Given the description of an element on the screen output the (x, y) to click on. 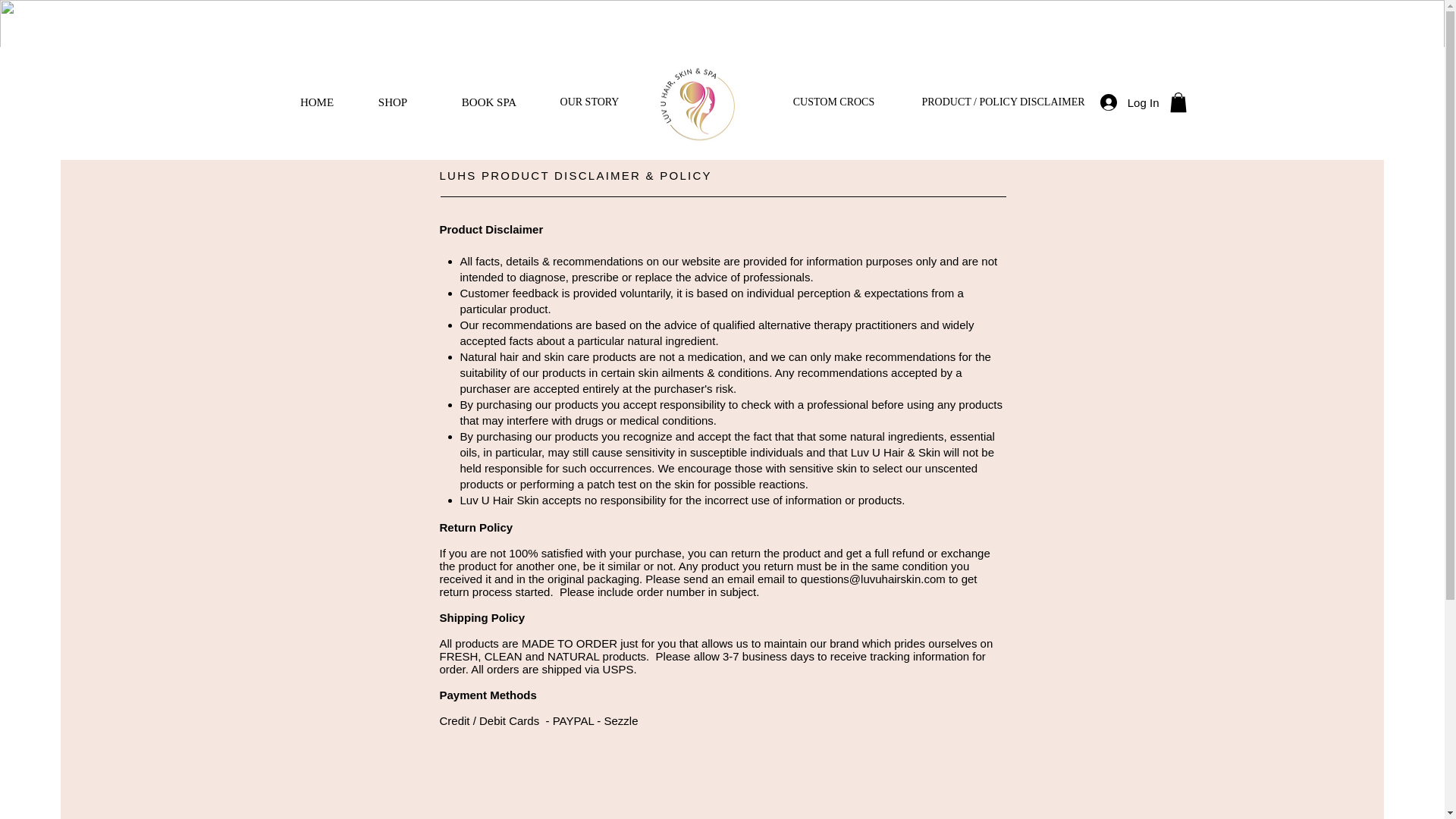
SHOP (392, 101)
Log In (1129, 102)
OUR STORY (588, 101)
BOOK SPA (489, 101)
CUSTOM CROCS (834, 101)
HOME (316, 101)
